Given the description of an element on the screen output the (x, y) to click on. 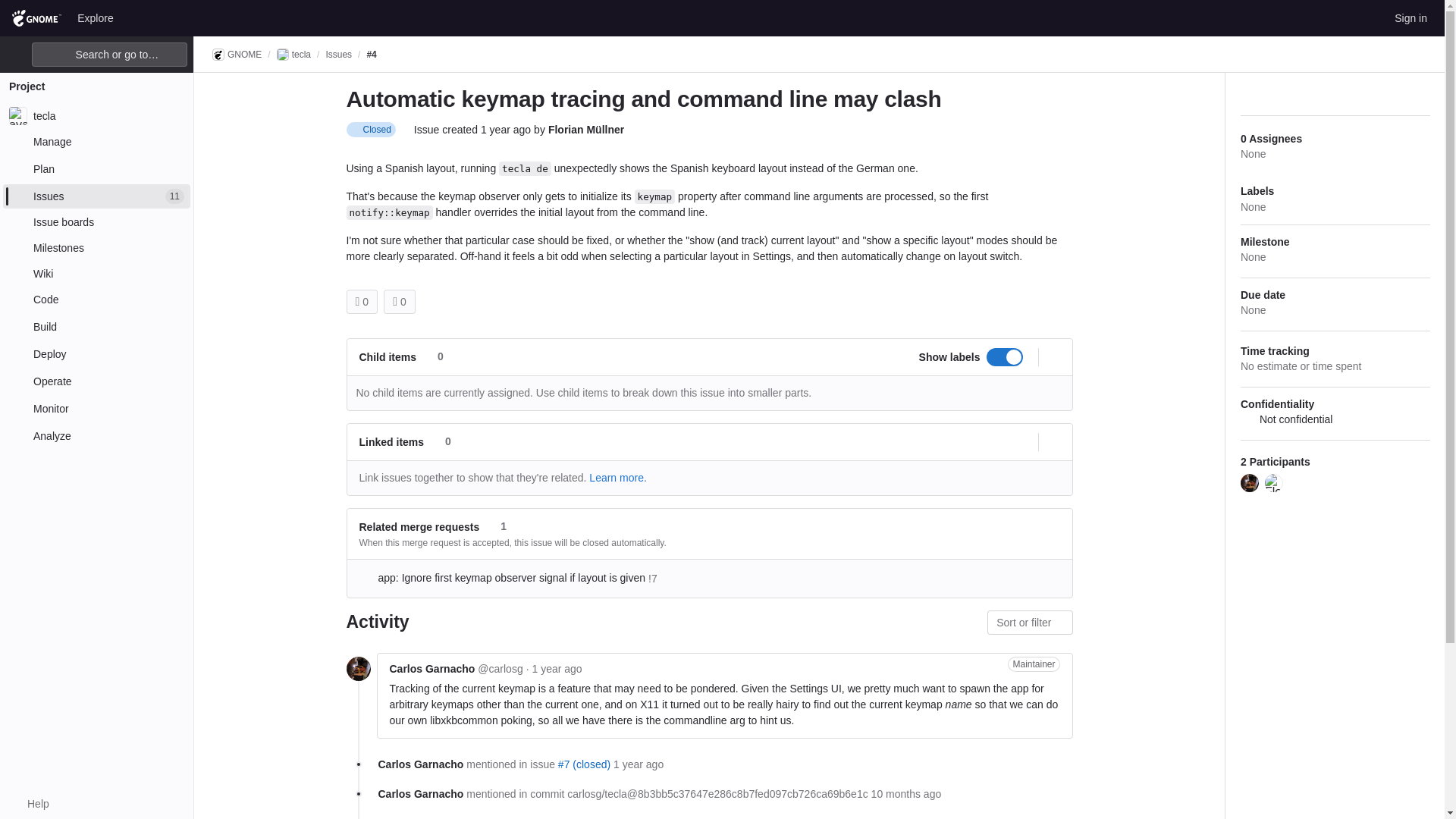
Explore (95, 17)
app: Ignore first keymap observer signal if layout is given (633, 818)
thumbs up sign (357, 301)
Plan (96, 168)
Deploy (96, 354)
Milestones (96, 247)
thumbs down sign (395, 301)
Operate (96, 381)
This user has the maintainer role in the tecla project. (1033, 663)
Issue boards (96, 221)
Build (96, 326)
Wiki (96, 273)
Sign in (1410, 17)
